Given the description of an element on the screen output the (x, y) to click on. 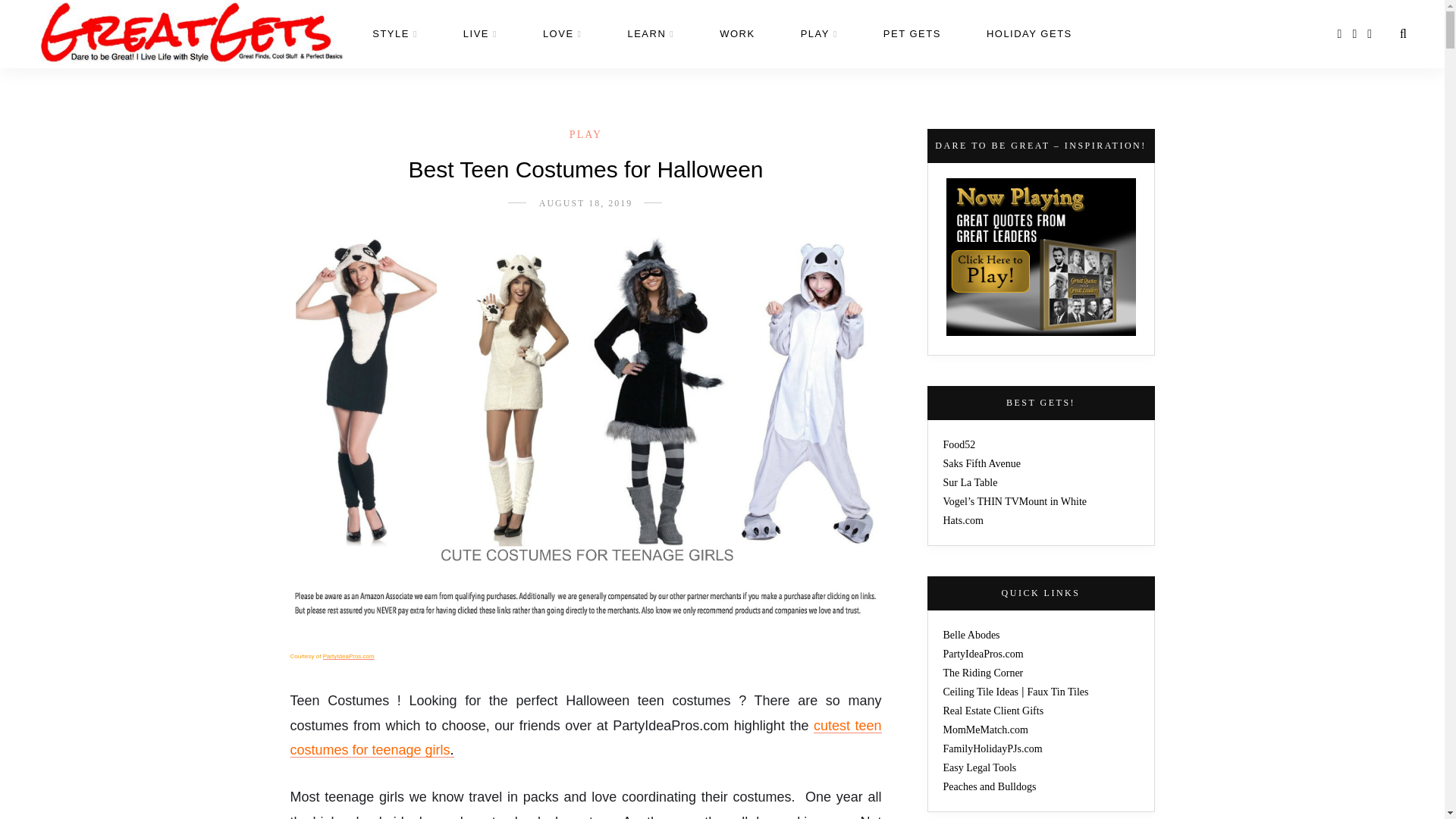
STYLE (394, 33)
